Given the description of an element on the screen output the (x, y) to click on. 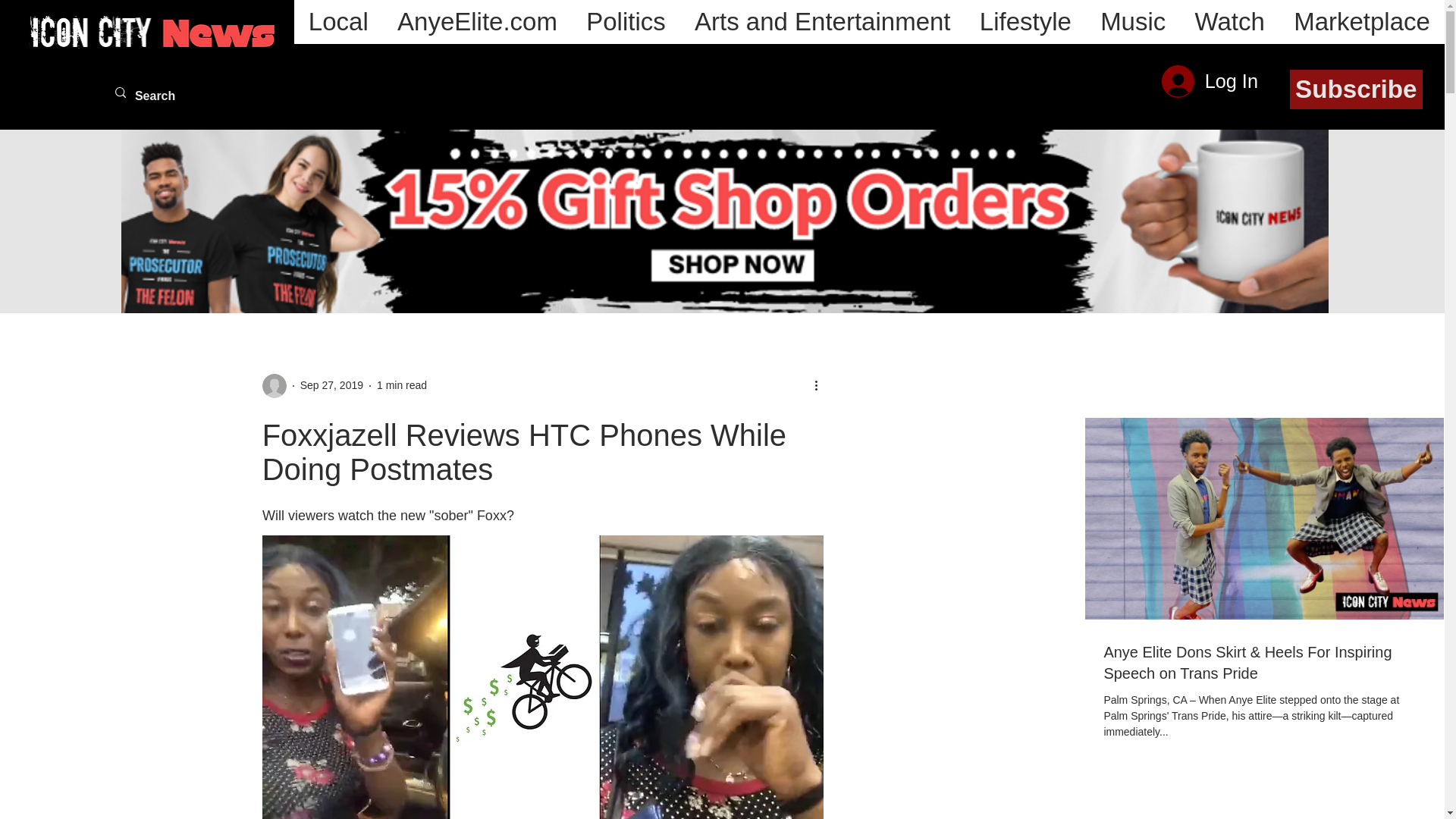
Lifestyle (1025, 22)
Log In (1209, 81)
Music (1132, 22)
Sep 27, 2019 (330, 385)
1 min read (401, 385)
AnyeElite.com (477, 22)
Subscribe (1356, 88)
Politics (625, 22)
Arts and Entertainment (822, 22)
Watch (1229, 22)
